Given the description of an element on the screen output the (x, y) to click on. 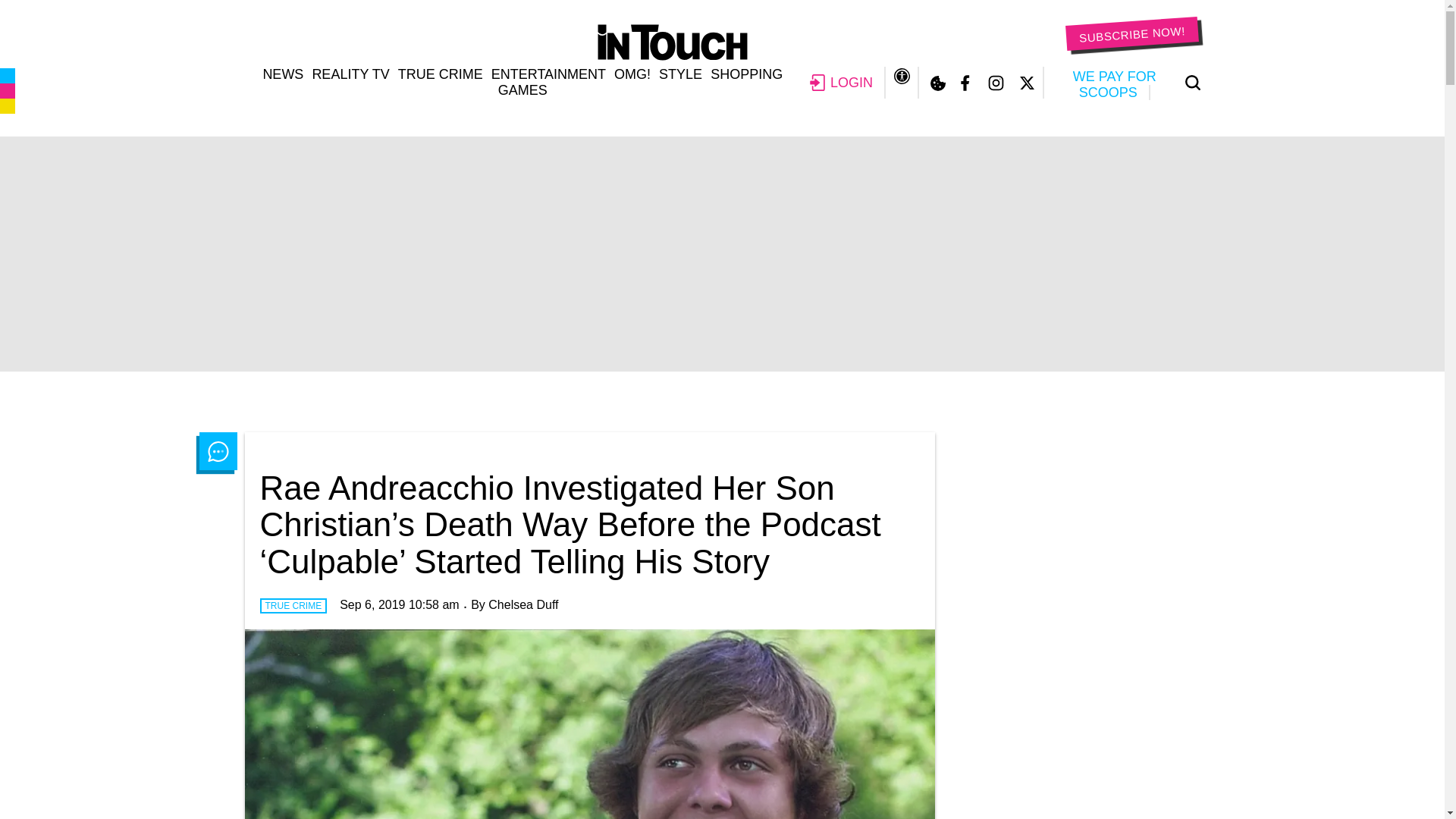
Posts by Chelsea Duff (522, 604)
NEWS (282, 73)
TRUE CRIME (440, 73)
REALITY TV (349, 73)
